Given the description of an element on the screen output the (x, y) to click on. 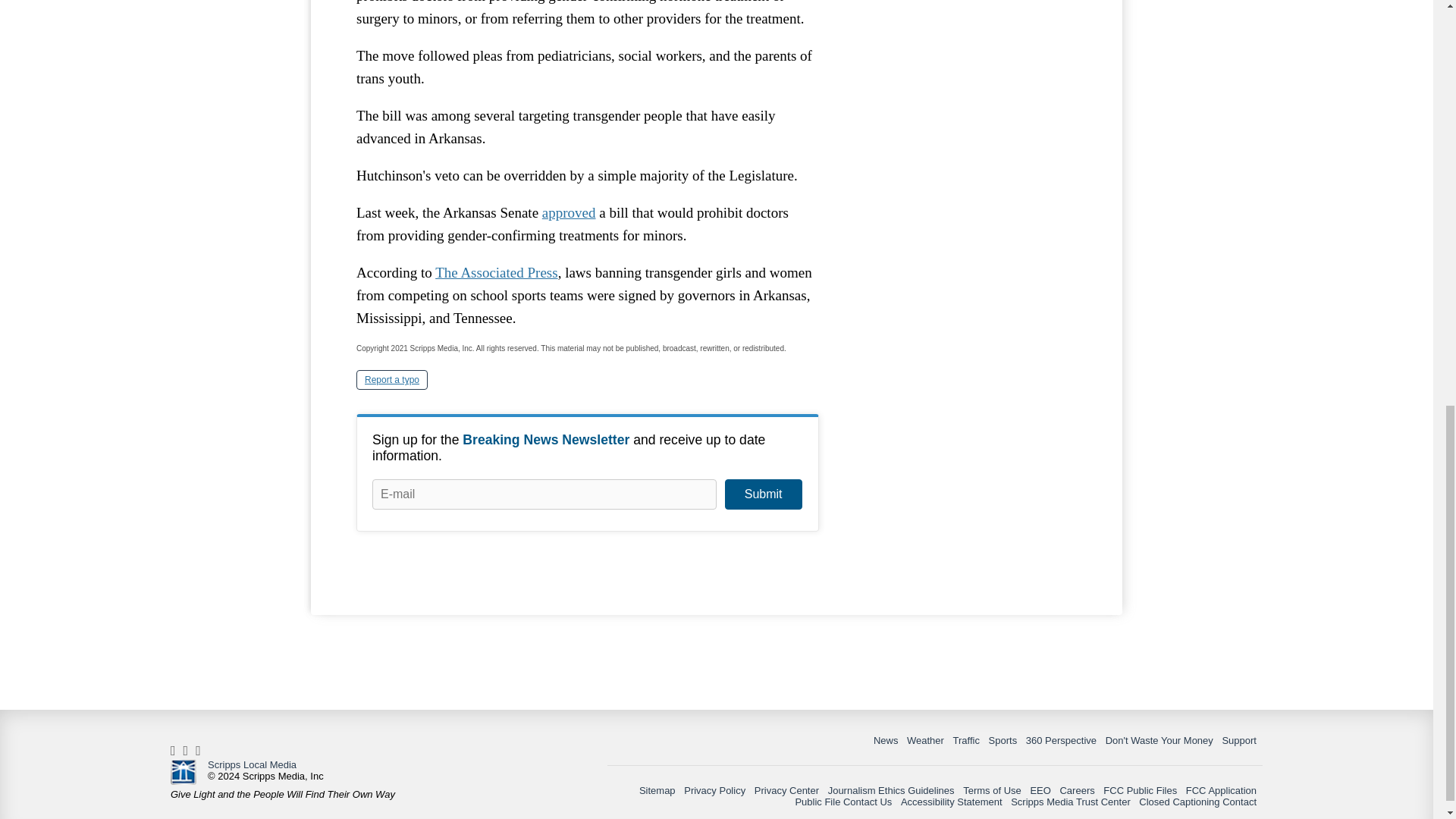
Submit (763, 494)
